Given the description of an element on the screen output the (x, y) to click on. 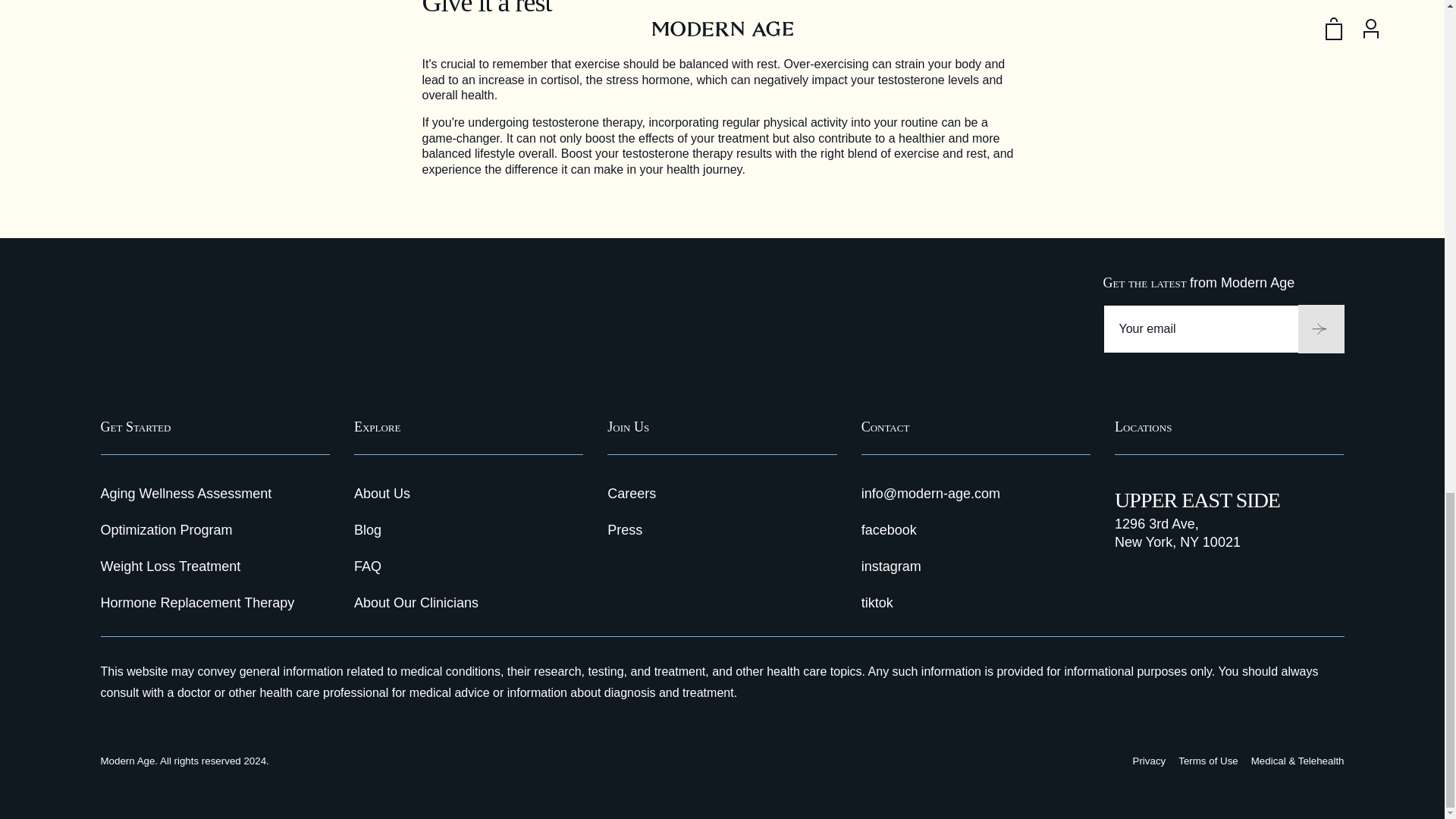
Hormone Replacement Therapy (197, 602)
Terms of Use (1208, 760)
Aging Wellness Assessment (185, 493)
About Us (381, 493)
FAQ (367, 566)
facebook (889, 529)
About Our Clinicians (416, 602)
Press (624, 529)
Privacy (1149, 760)
Weight Loss Treatment (170, 566)
